Given the description of an element on the screen output the (x, y) to click on. 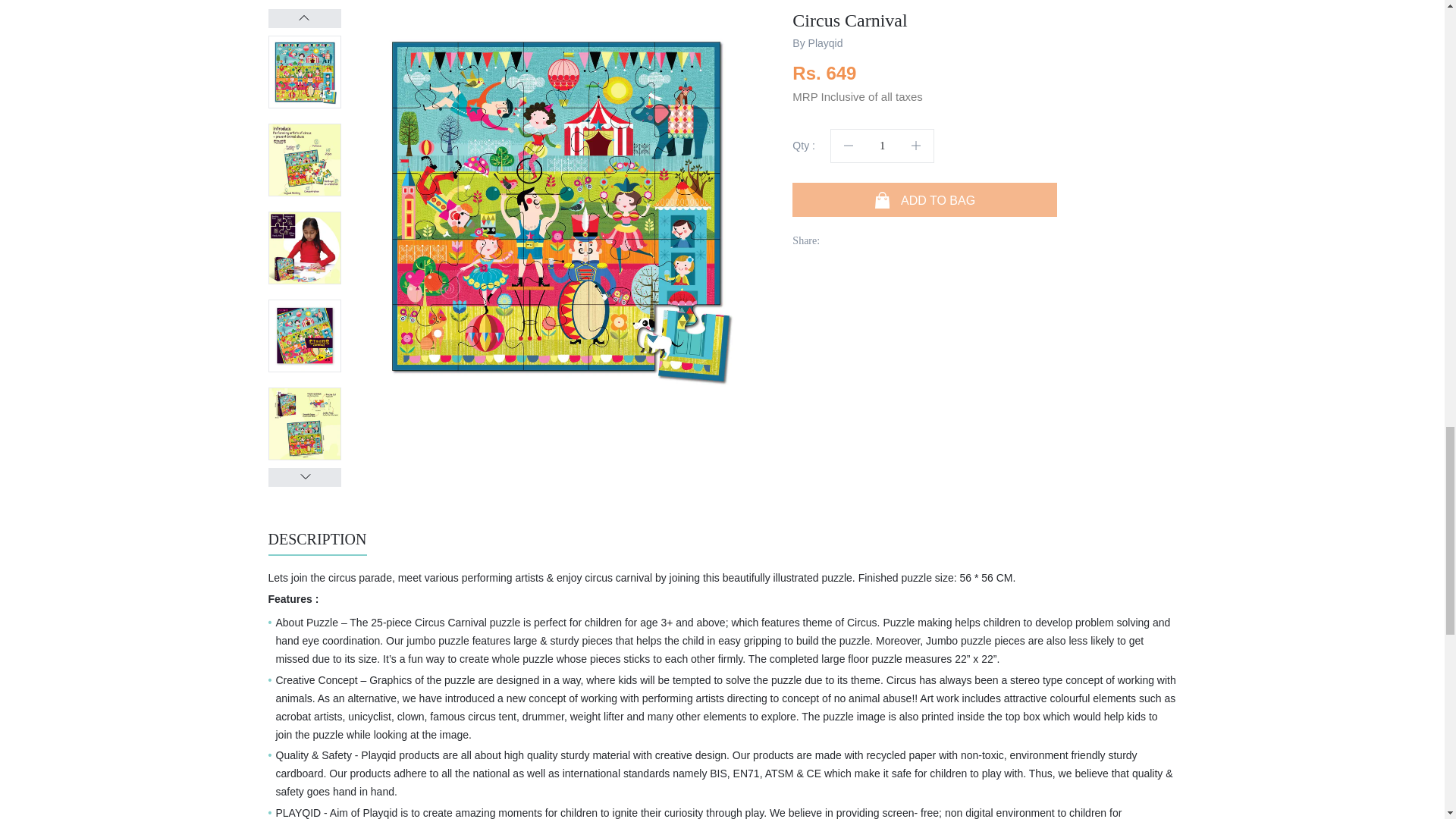
1 (882, 145)
Playqid (825, 42)
